Given the description of an element on the screen output the (x, y) to click on. 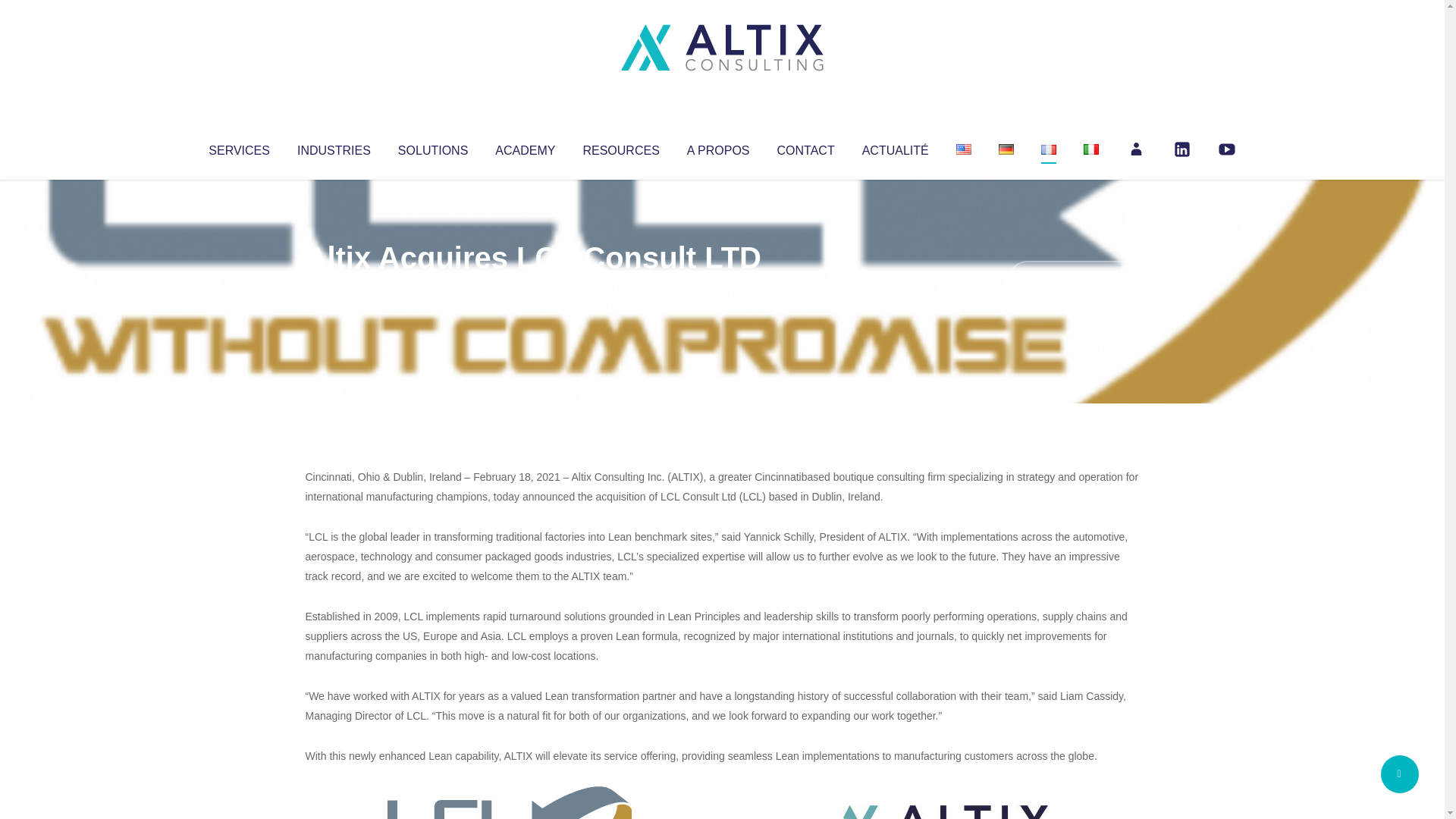
Uncategorized (530, 287)
Altix (333, 287)
No Comments (1073, 278)
ACADEMY (524, 146)
RESOURCES (620, 146)
A PROPOS (718, 146)
SERVICES (238, 146)
Articles par Altix (333, 287)
INDUSTRIES (334, 146)
SOLUTIONS (432, 146)
